Given the description of an element on the screen output the (x, y) to click on. 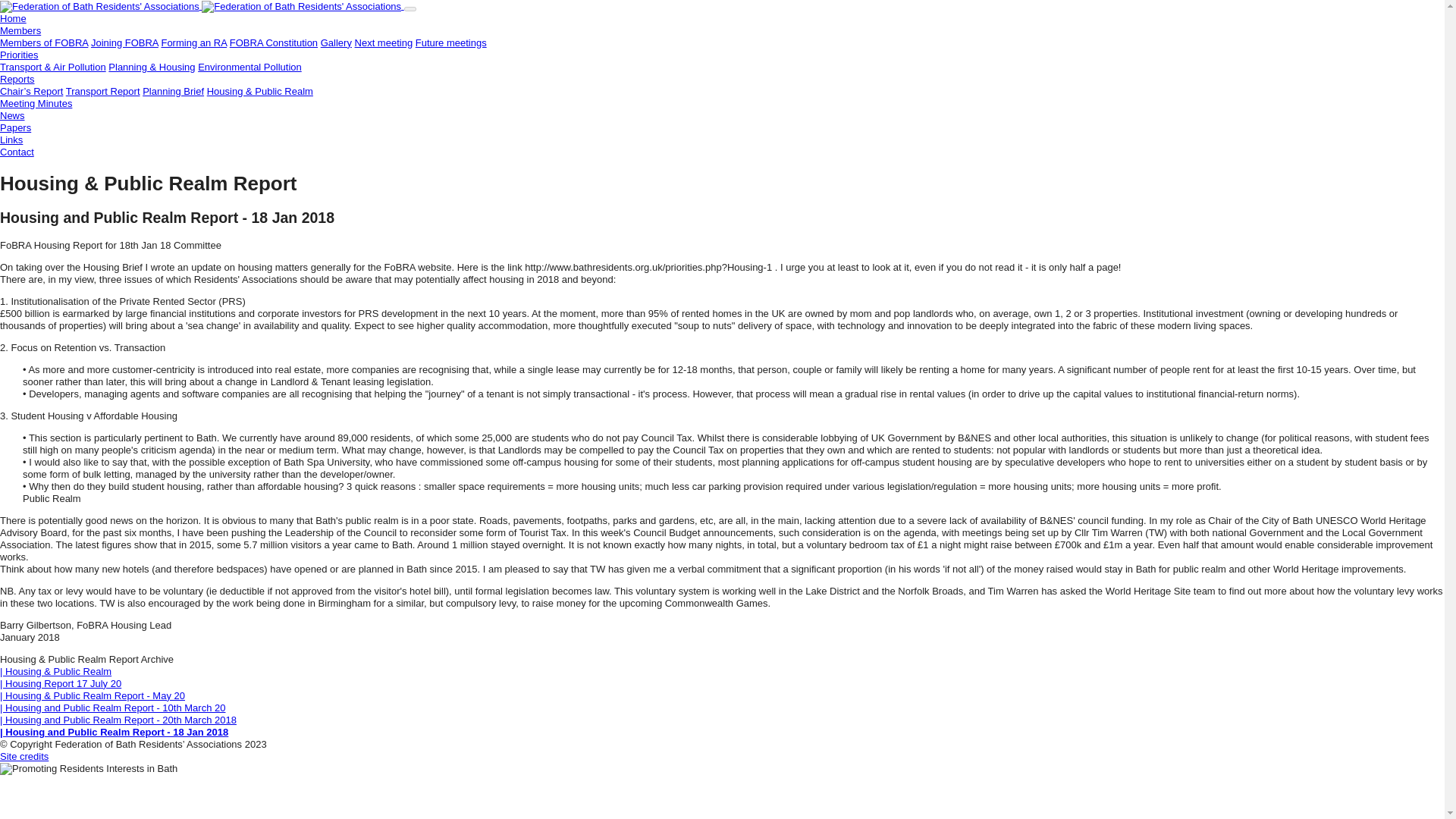
Joining FOBRA (124, 42)
Future meetings (450, 42)
Environmental Pollution (249, 66)
Site credits (24, 756)
Priorities (19, 54)
News (12, 115)
Meeting Minutes (35, 102)
Home (13, 18)
Forming an RA (193, 42)
Members (20, 30)
Reports (17, 79)
Planning Brief (172, 91)
Links (11, 139)
Contact (16, 152)
FOBRA Constitution (273, 42)
